Given the description of an element on the screen output the (x, y) to click on. 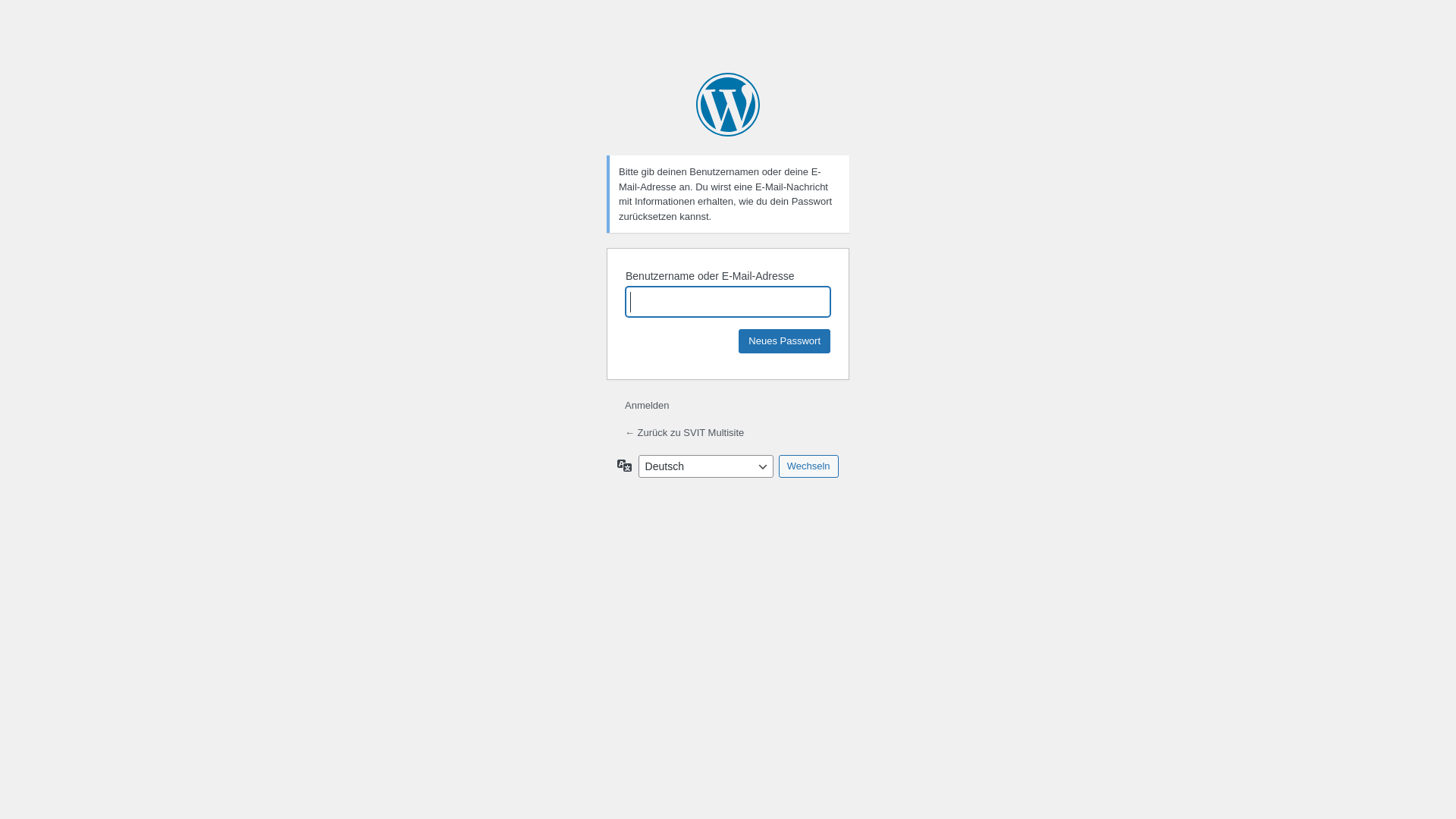
Wechseln Element type: text (808, 466)
Powered by WordPress Element type: text (727, 104)
Anmelden Element type: text (646, 405)
Neues Passwort Element type: text (784, 341)
